Given the description of an element on the screen output the (x, y) to click on. 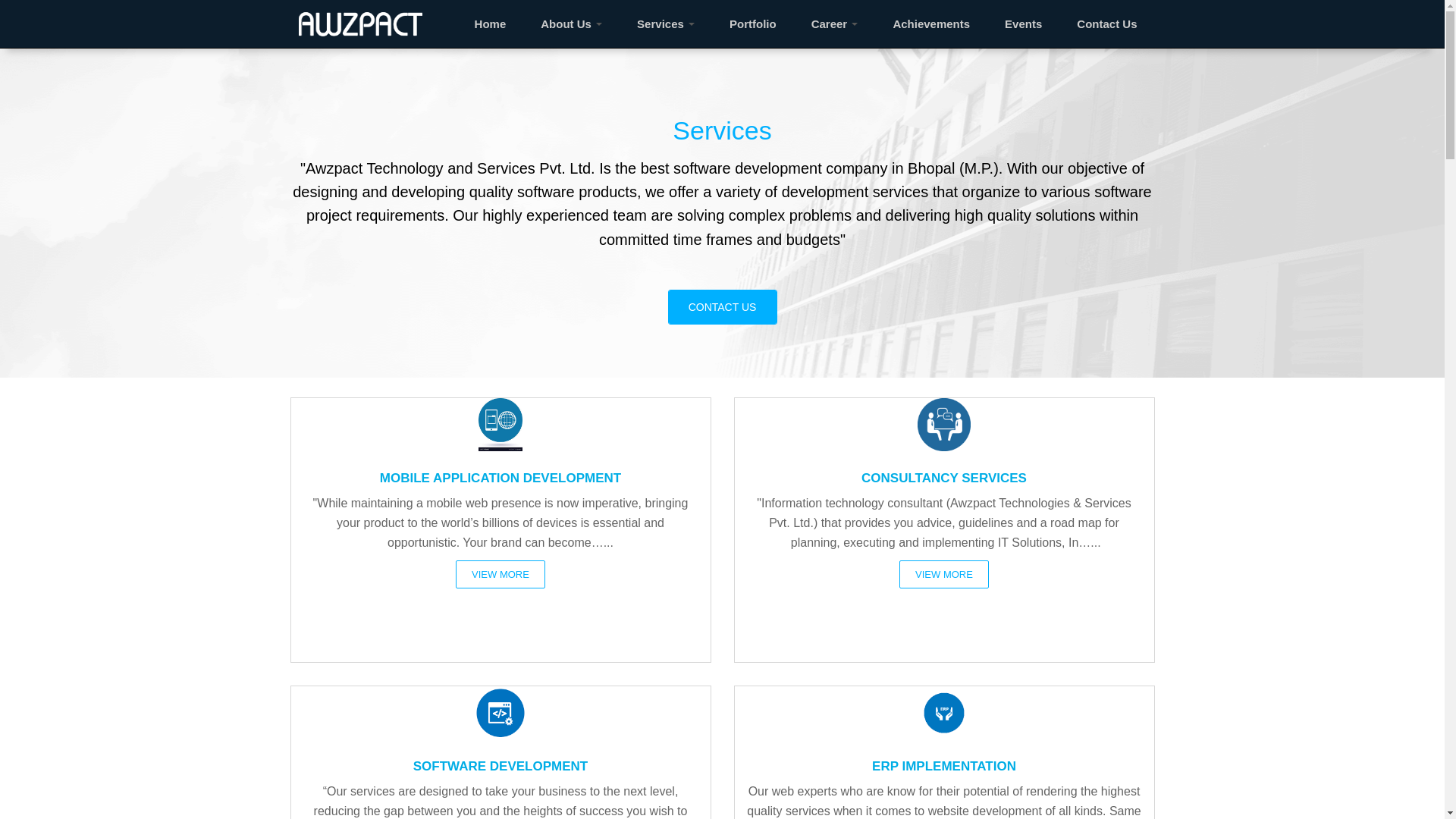
CONSULTANCY SERVICES (943, 463)
Career (828, 24)
VIEW MORE (499, 574)
Services (660, 24)
Achievements (930, 24)
MOBILE APPLICATION DEVELOPMENT (500, 463)
Events (1023, 24)
Portfolio (752, 24)
CONTACT US (721, 306)
Contact Us (1107, 24)
About Us (565, 24)
